Given the description of an element on the screen output the (x, y) to click on. 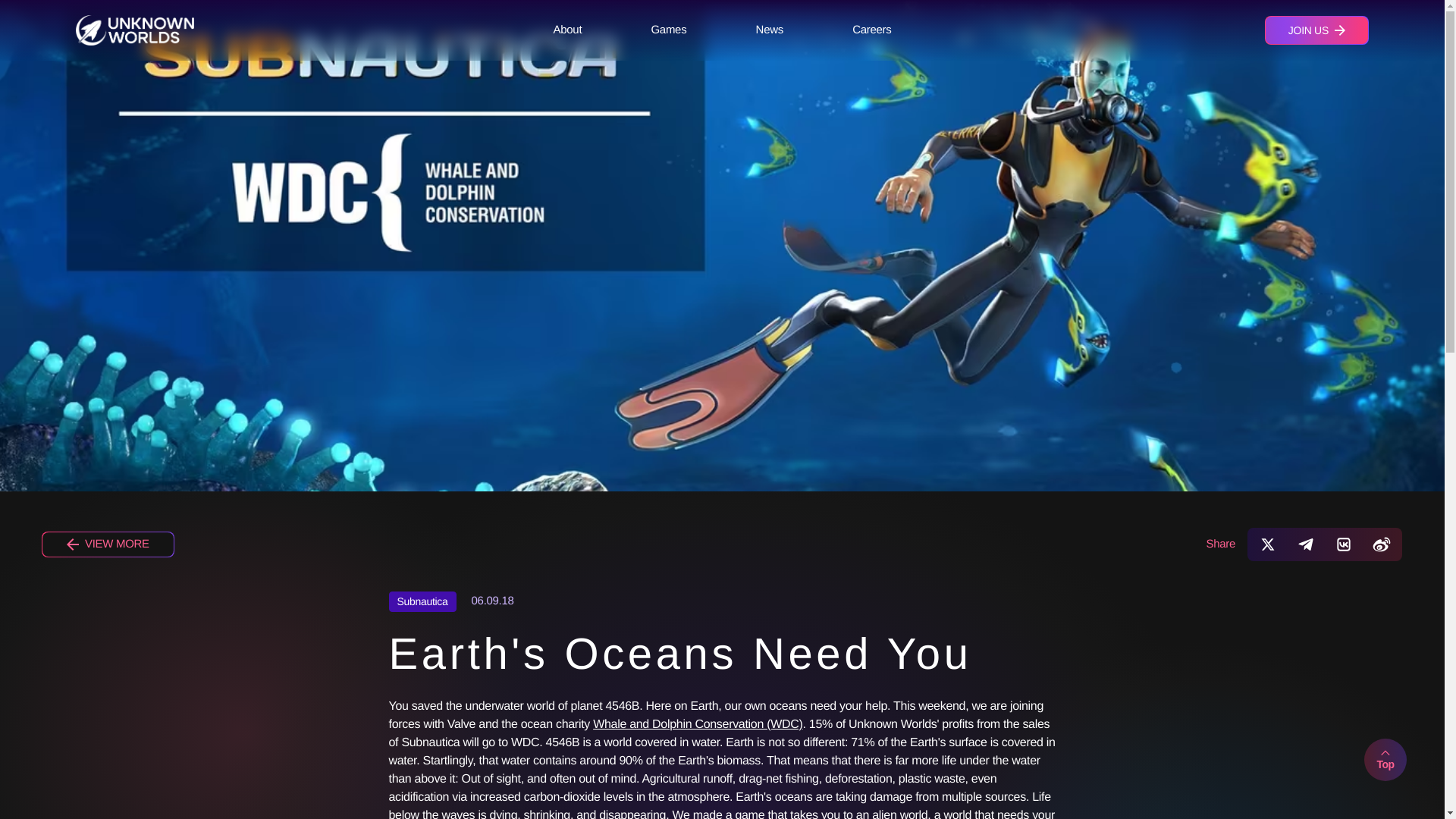
News (769, 30)
VKontakte (1343, 544)
X (1267, 544)
Telegram (1305, 544)
Games (669, 30)
Top (1385, 759)
Weibo (1381, 544)
JOIN US (1316, 30)
VIEW MORE (107, 544)
About (567, 30)
Subnautica (421, 601)
Careers (871, 30)
